Given the description of an element on the screen output the (x, y) to click on. 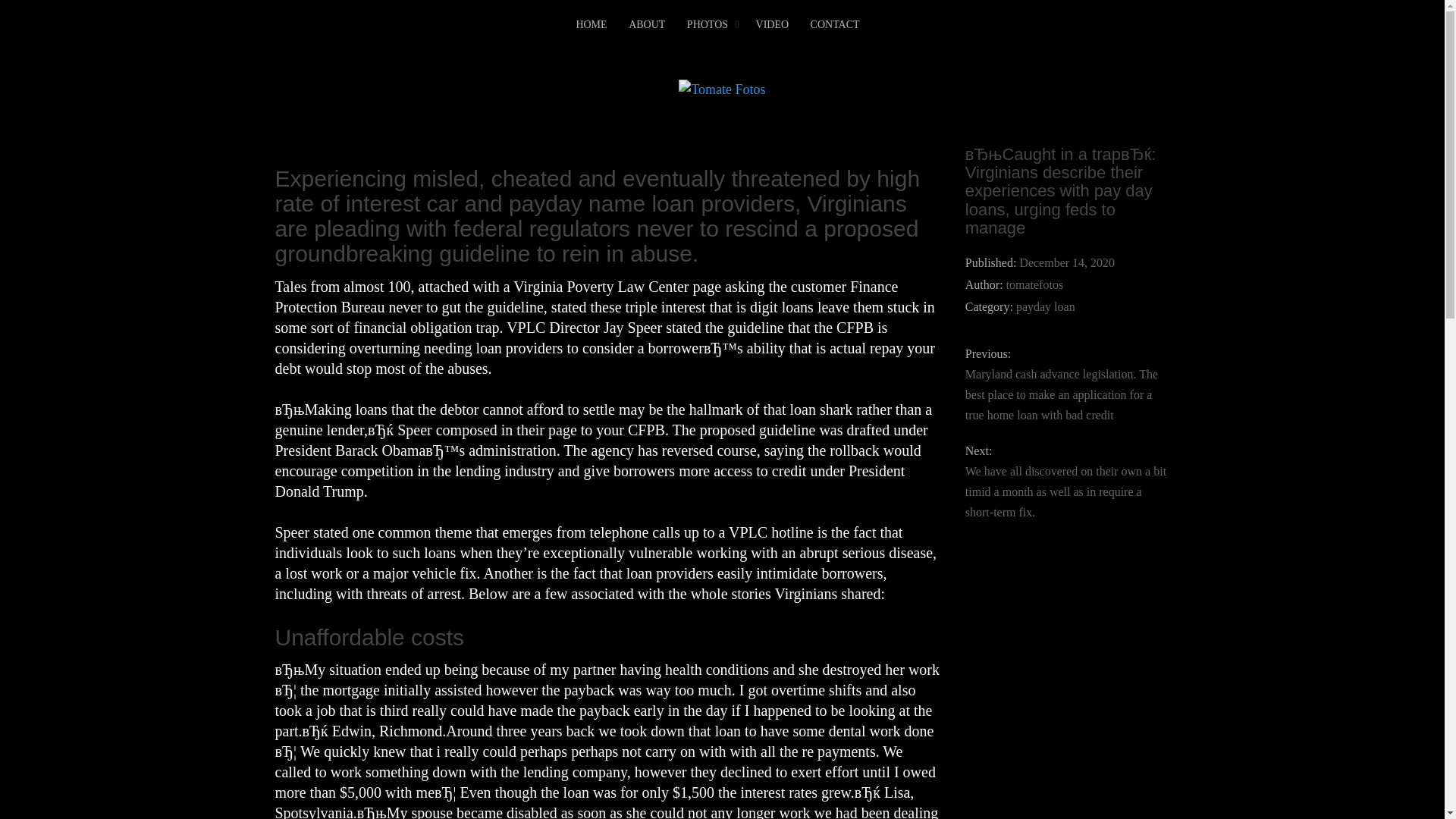
HOME (591, 25)
tomatefotos (1035, 284)
PHOTOS (707, 25)
ABOUT (646, 25)
CONTACT (835, 25)
VIDEO (772, 25)
payday loan (1045, 306)
